Given the description of an element on the screen output the (x, y) to click on. 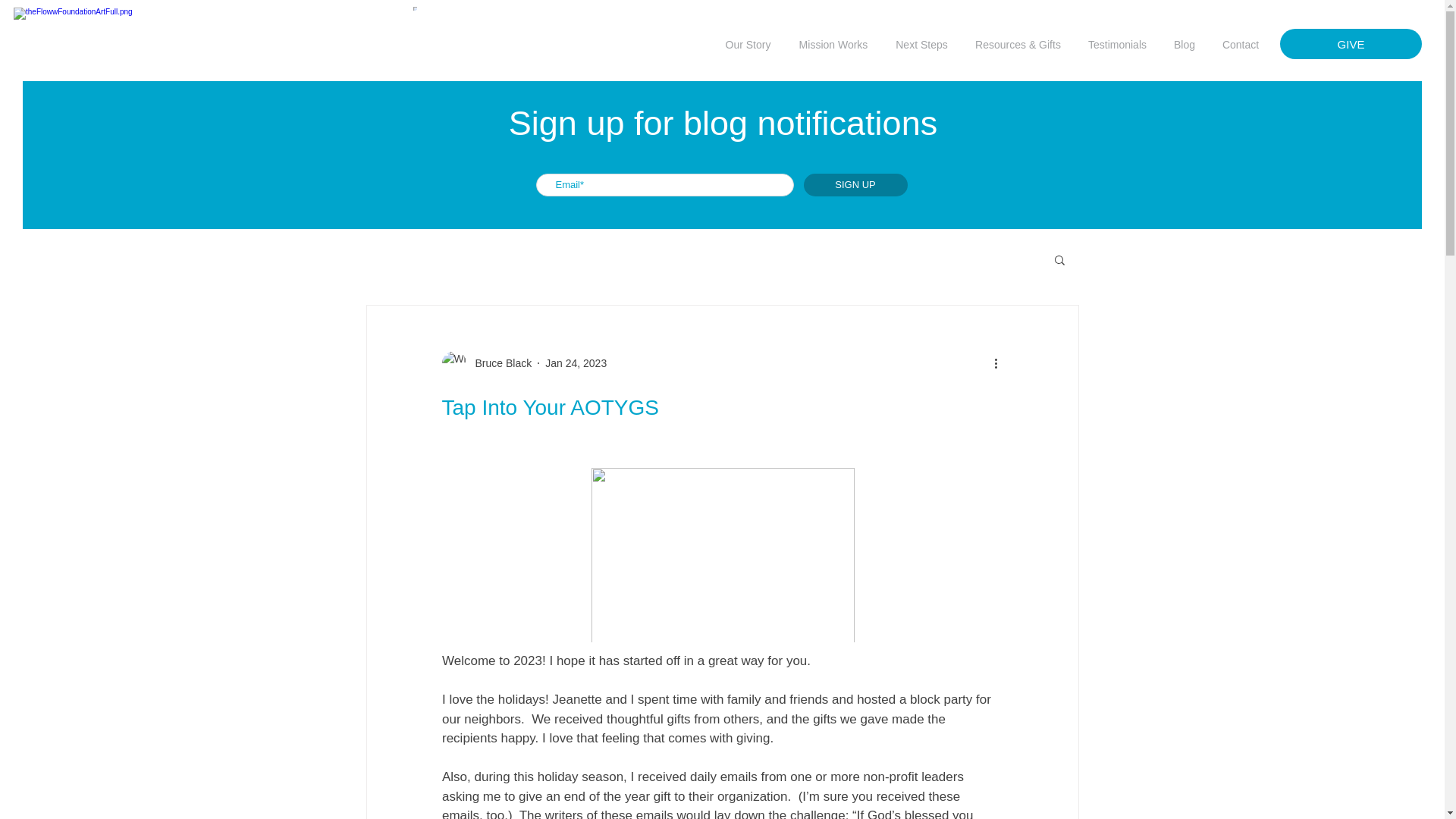
Mission Works (833, 44)
Bruce Black (498, 362)
Testimonials (1117, 44)
SIGN UP (855, 184)
Our Story (747, 44)
Jan 24, 2023 (575, 362)
Blog (1184, 44)
Contact (1240, 44)
Next Steps (921, 44)
GIVE (1350, 43)
